Given the description of an element on the screen output the (x, y) to click on. 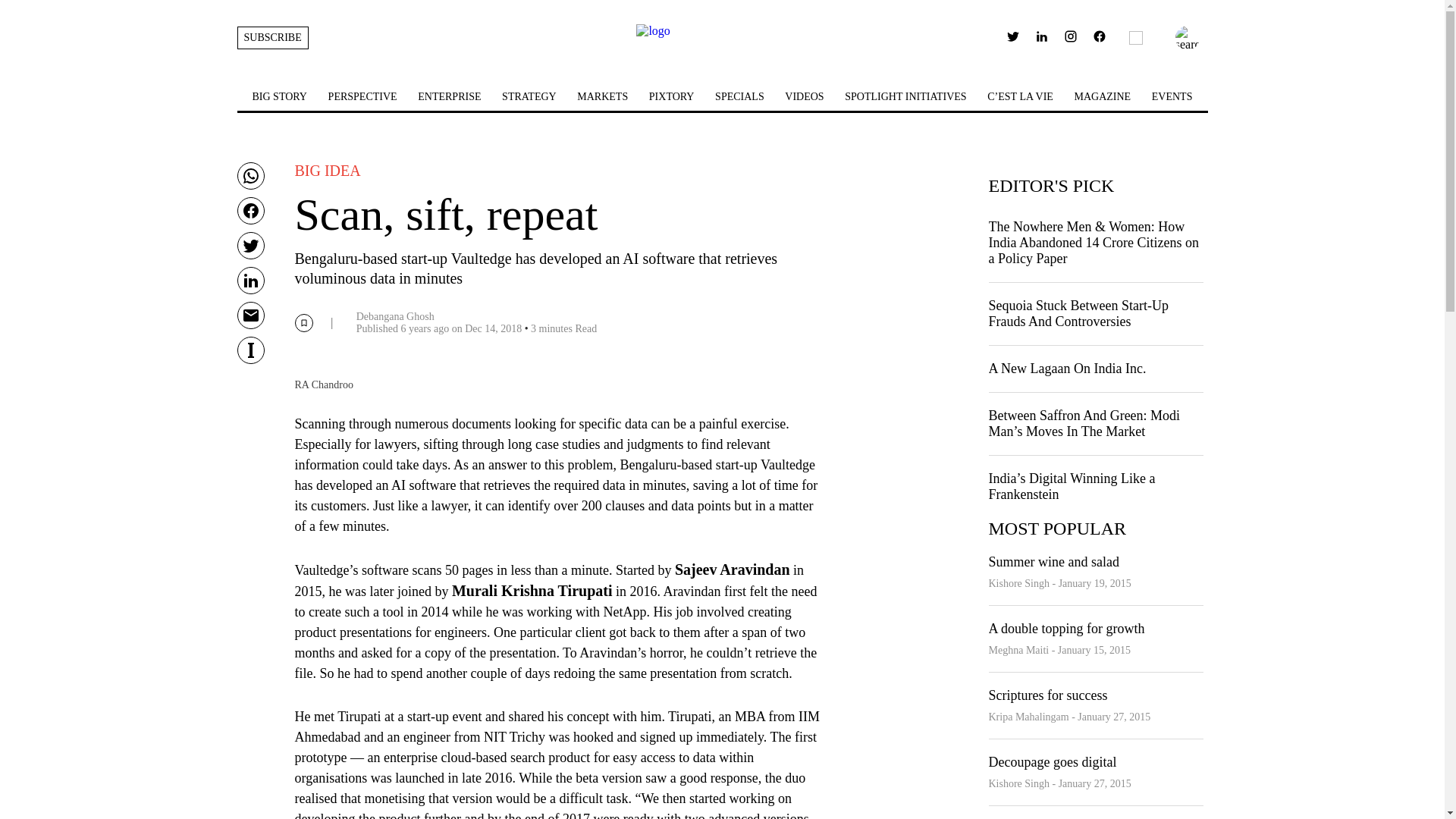
BIG STORY (278, 96)
User Profile (1099, 36)
EVENTS (1171, 96)
VIDEOS (804, 96)
ENTERPRISE (448, 96)
PERSPECTIVE (363, 96)
SPECIALS (739, 96)
instagram (1070, 38)
twitter (1013, 36)
SUBSCRIBE (271, 37)
SPOTLIGHT INITIATIVES (905, 96)
User Profile (1098, 38)
MAGAZINE (1102, 96)
STRATEGY (529, 96)
linkedin (1042, 38)
